Given the description of an element on the screen output the (x, y) to click on. 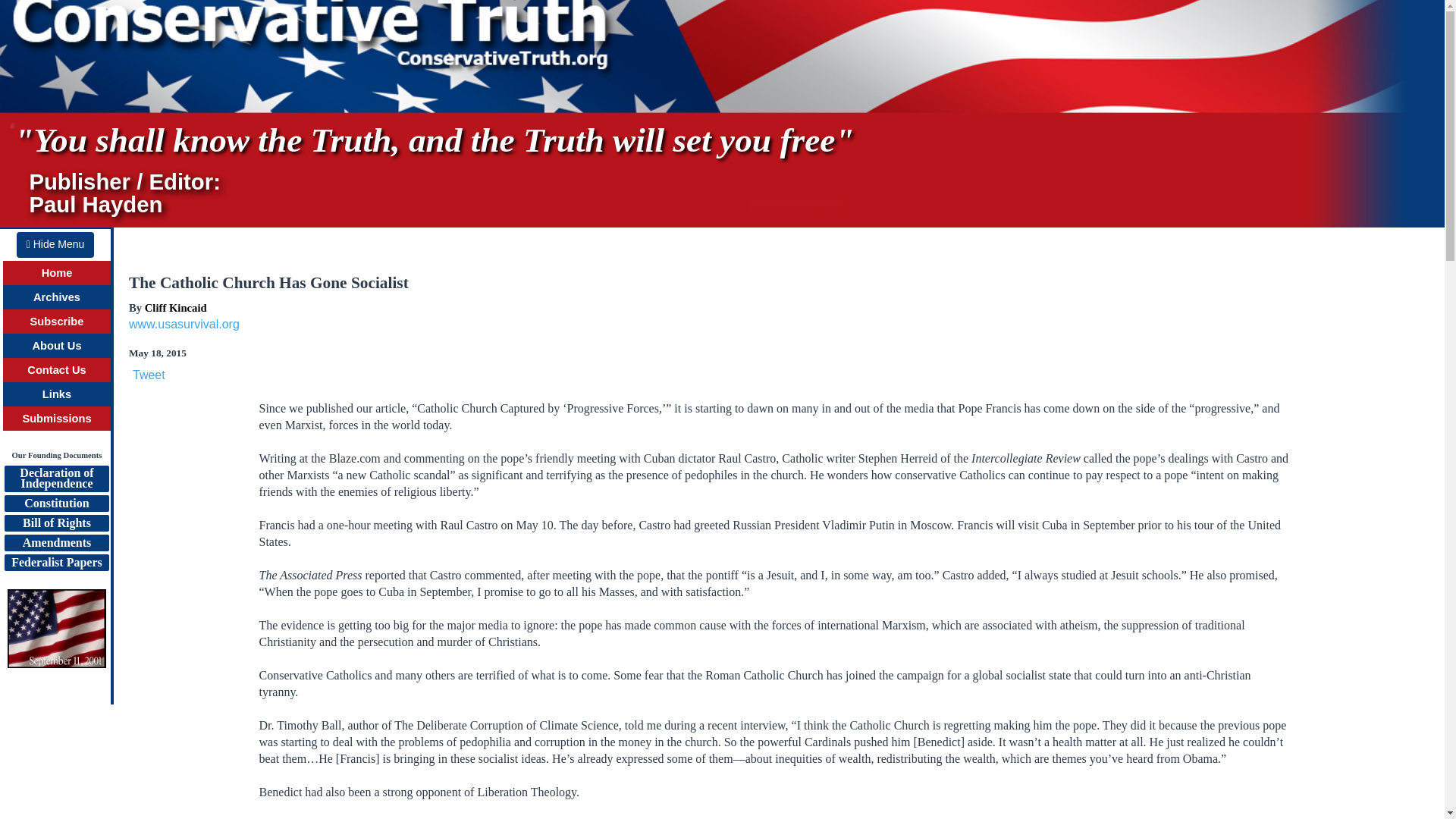
Home (57, 272)
Federalist Papers (56, 479)
Amendments (56, 562)
Archives (56, 542)
www.usasurvival.org (56, 297)
Submissions (184, 323)
Cliff Kincaid (55, 418)
About Us (175, 307)
Bill of Rights (56, 345)
Subscribe (56, 523)
Tweet (57, 321)
Contact Us (148, 374)
Hide Menu (56, 369)
Constitution (55, 244)
